Given the description of an element on the screen output the (x, y) to click on. 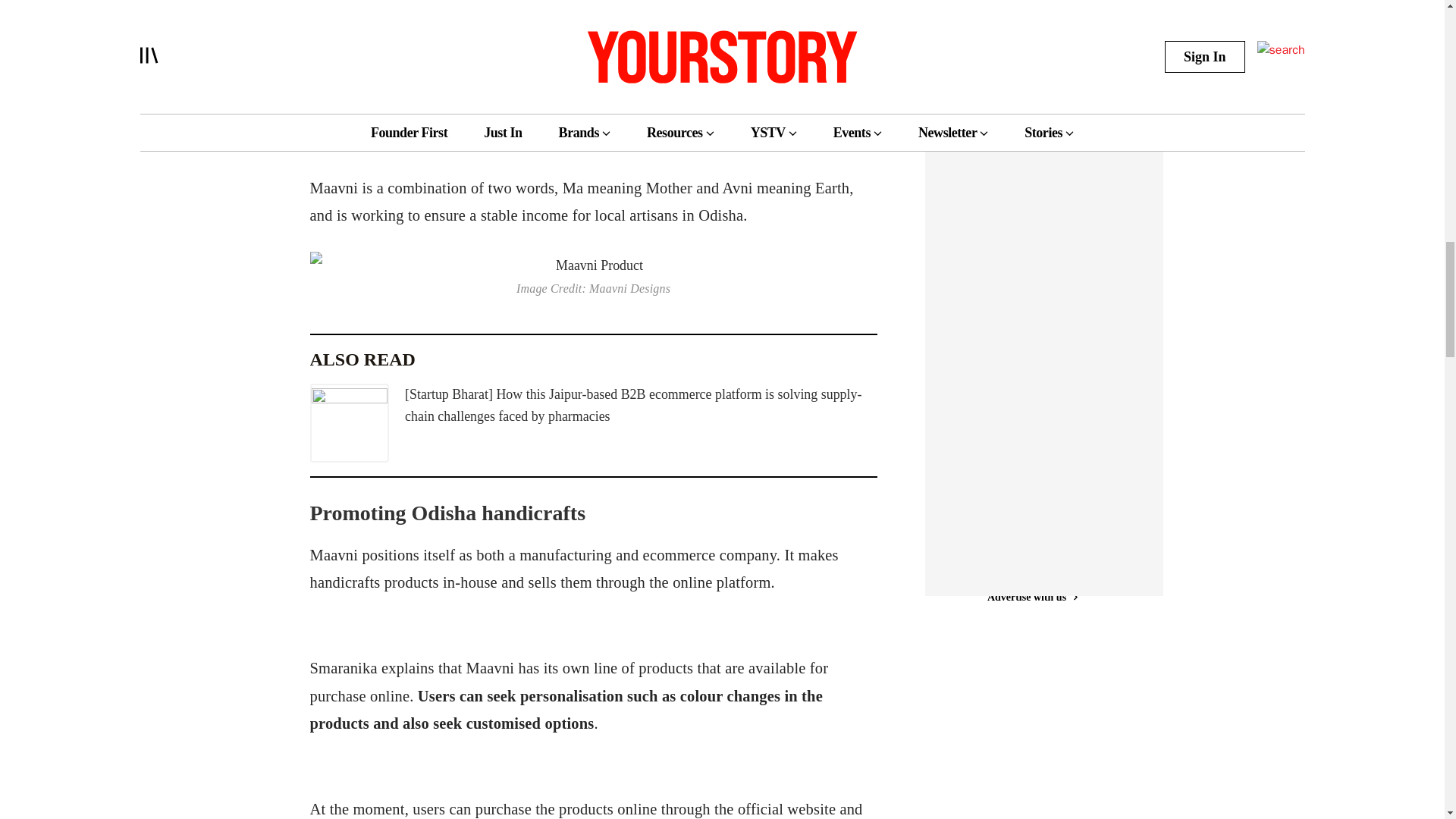
Advertise with us (1032, 109)
NEWS (970, 17)
Advertise with us (1032, 596)
